Given the description of an element on the screen output the (x, y) to click on. 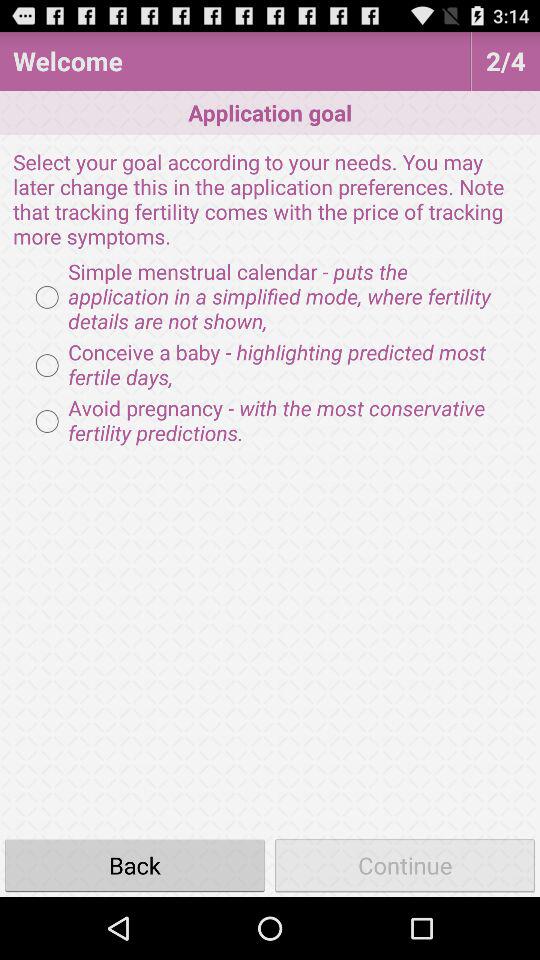
swipe until continue item (405, 864)
